Given the description of an element on the screen output the (x, y) to click on. 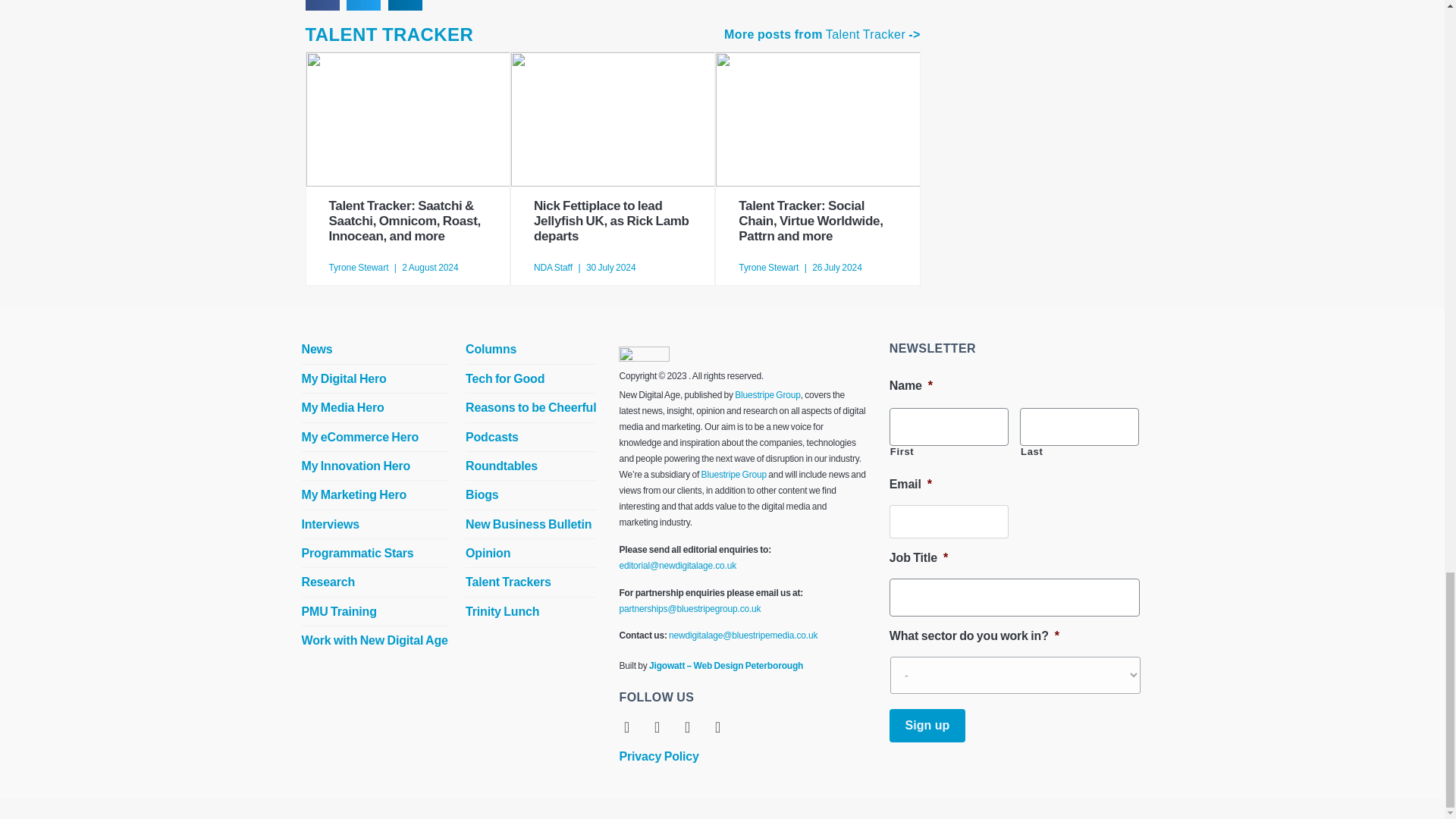
Sign up (927, 725)
